Given the description of an element on the screen output the (x, y) to click on. 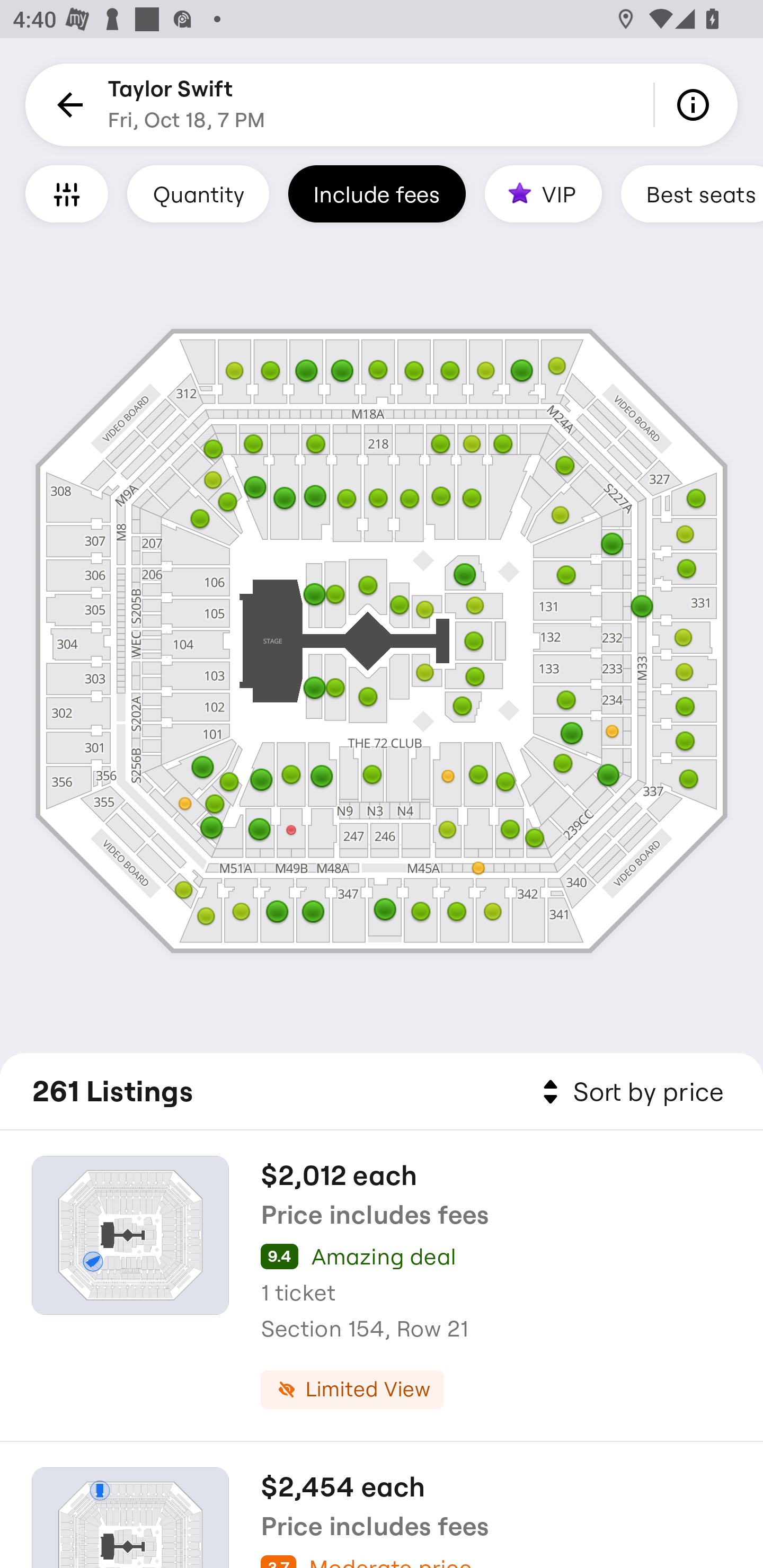
Back Taylor Swift Fri, Oct 18, 7 PM Info (381, 104)
Back (66, 104)
Taylor Swift Fri, Oct 18, 7 PM (186, 104)
Info (695, 104)
Filters and Accessible Seating (66, 193)
Quantity (198, 193)
Include fees (376, 193)
VIP (543, 193)
Best seats (692, 193)
Sort by price (629, 1091)
$2,454 each Price includes fees 3.7 Moderate price (381, 1505)
